Given the description of an element on the screen output the (x, y) to click on. 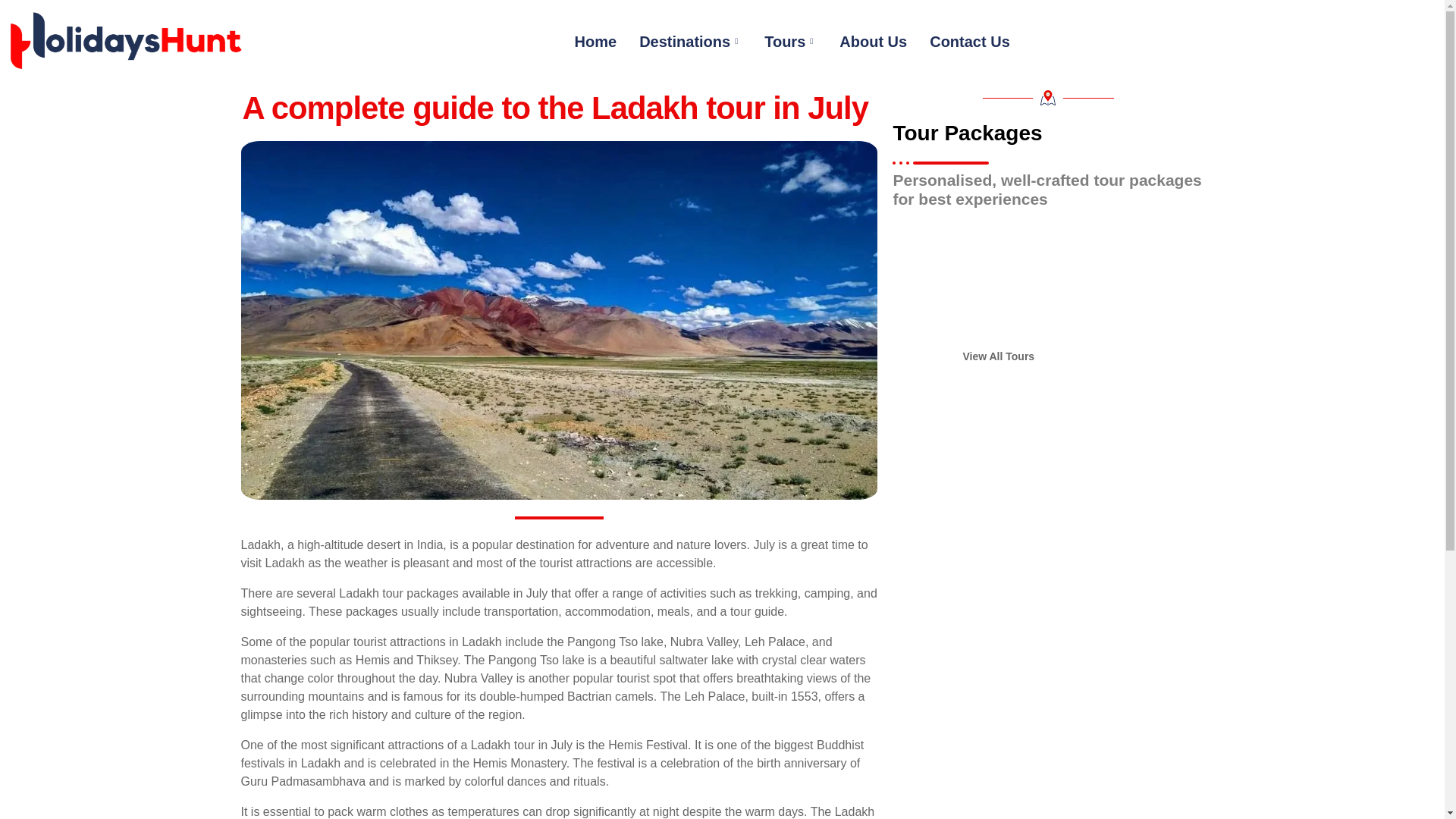
View All Tours (997, 355)
About Us (873, 41)
Destinations (689, 41)
Tours (790, 41)
Contact Us (970, 41)
Home (595, 41)
